Given the description of an element on the screen output the (x, y) to click on. 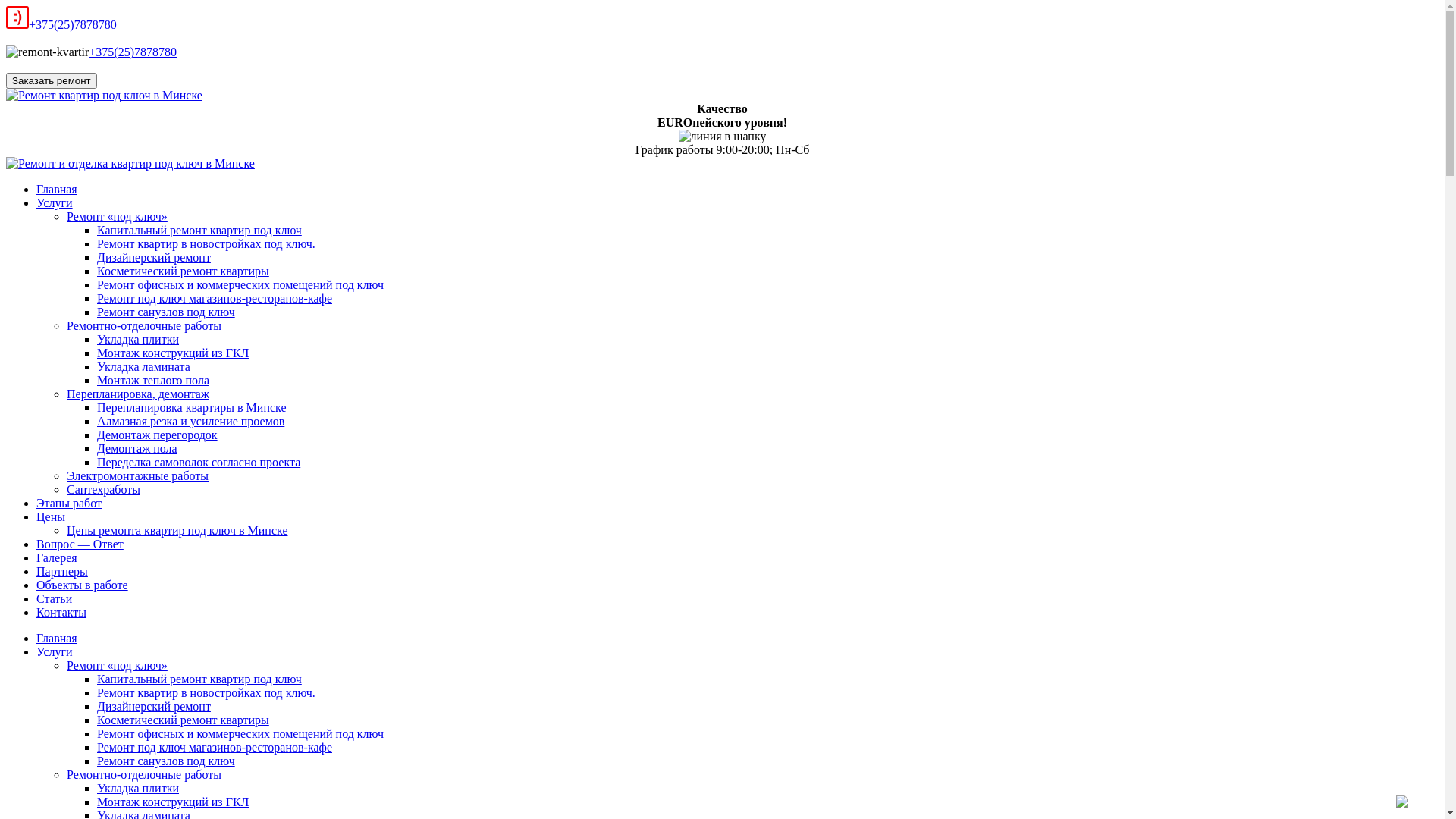
+375(25)7878780 Element type: text (72, 24)
+375(25)7878780 Element type: text (132, 51)
